Given the description of an element on the screen output the (x, y) to click on. 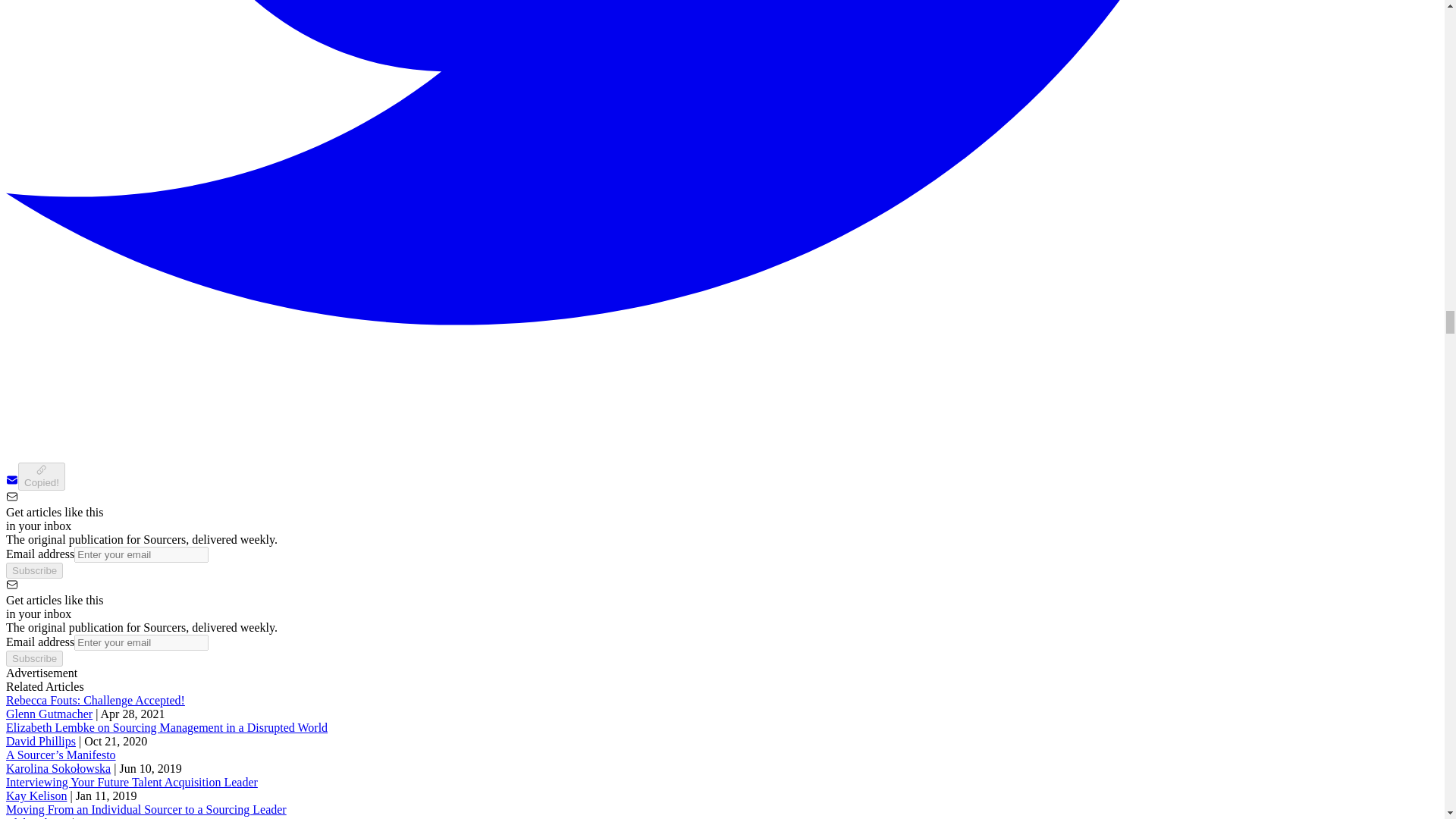
Elizabeth Lembke on Sourcing Management in a Disrupted World (166, 727)
Subscribe (33, 570)
David Phillips (40, 740)
Subscribe (33, 658)
Glenn Gutmacher (49, 713)
Rebecca Fouts: Challenge Accepted! (94, 699)
Copied! (41, 476)
Interviewing Your Future Talent Acquisition Leader (131, 781)
Moving From an Individual Sourcer to a Sourcing Leader (145, 809)
Blake Thiess (36, 817)
Kay Kelison (35, 795)
